Given the description of an element on the screen output the (x, y) to click on. 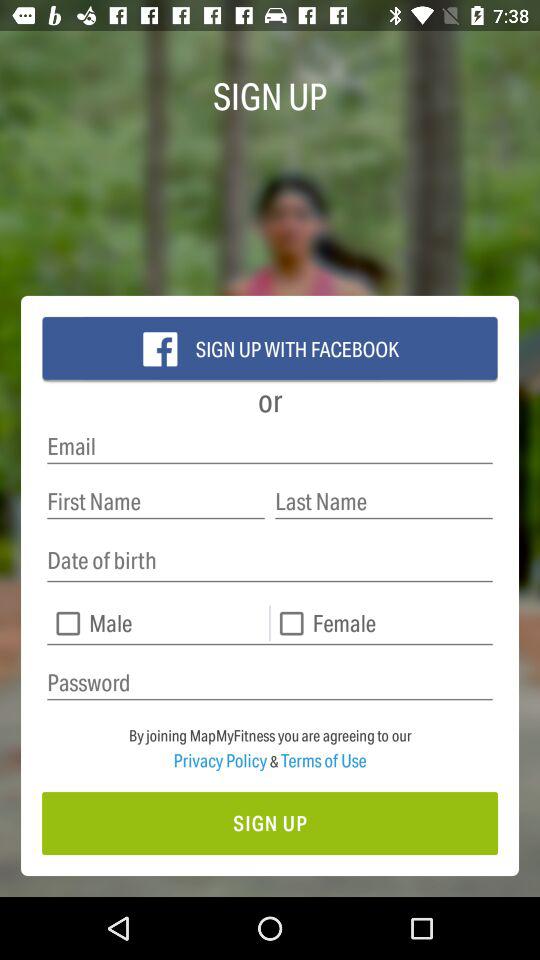
create a password (270, 682)
